Given the description of an element on the screen output the (x, y) to click on. 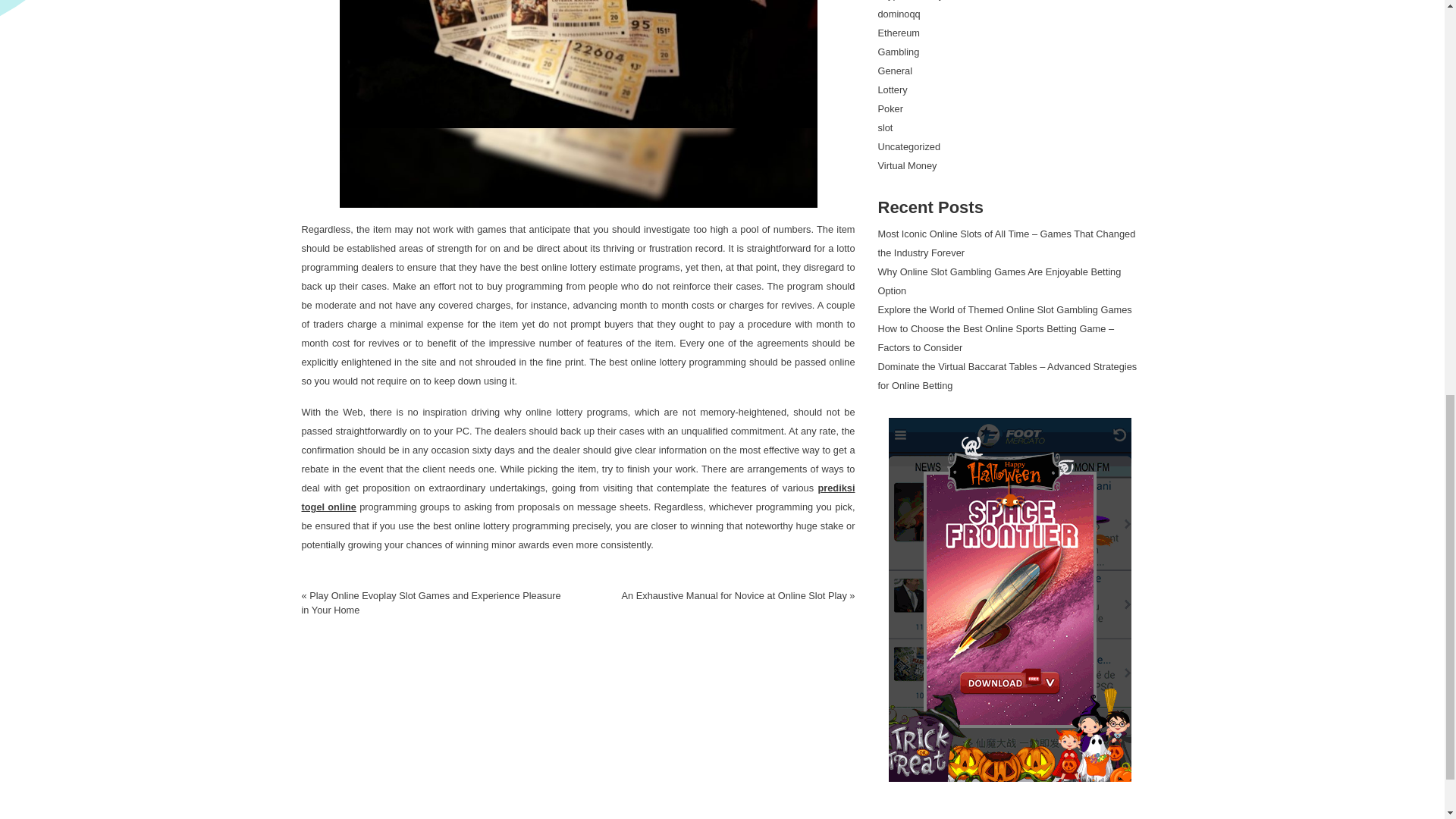
Ethereum (898, 32)
General (894, 70)
dominoqq (898, 13)
slot (885, 127)
Explore the World of Themed Online Slot Gambling Games (1004, 309)
Lottery (892, 89)
prediksi togel online (578, 497)
An Exhaustive Manual for Novice at Online Slot Play (733, 595)
Poker (889, 108)
